Given the description of an element on the screen output the (x, y) to click on. 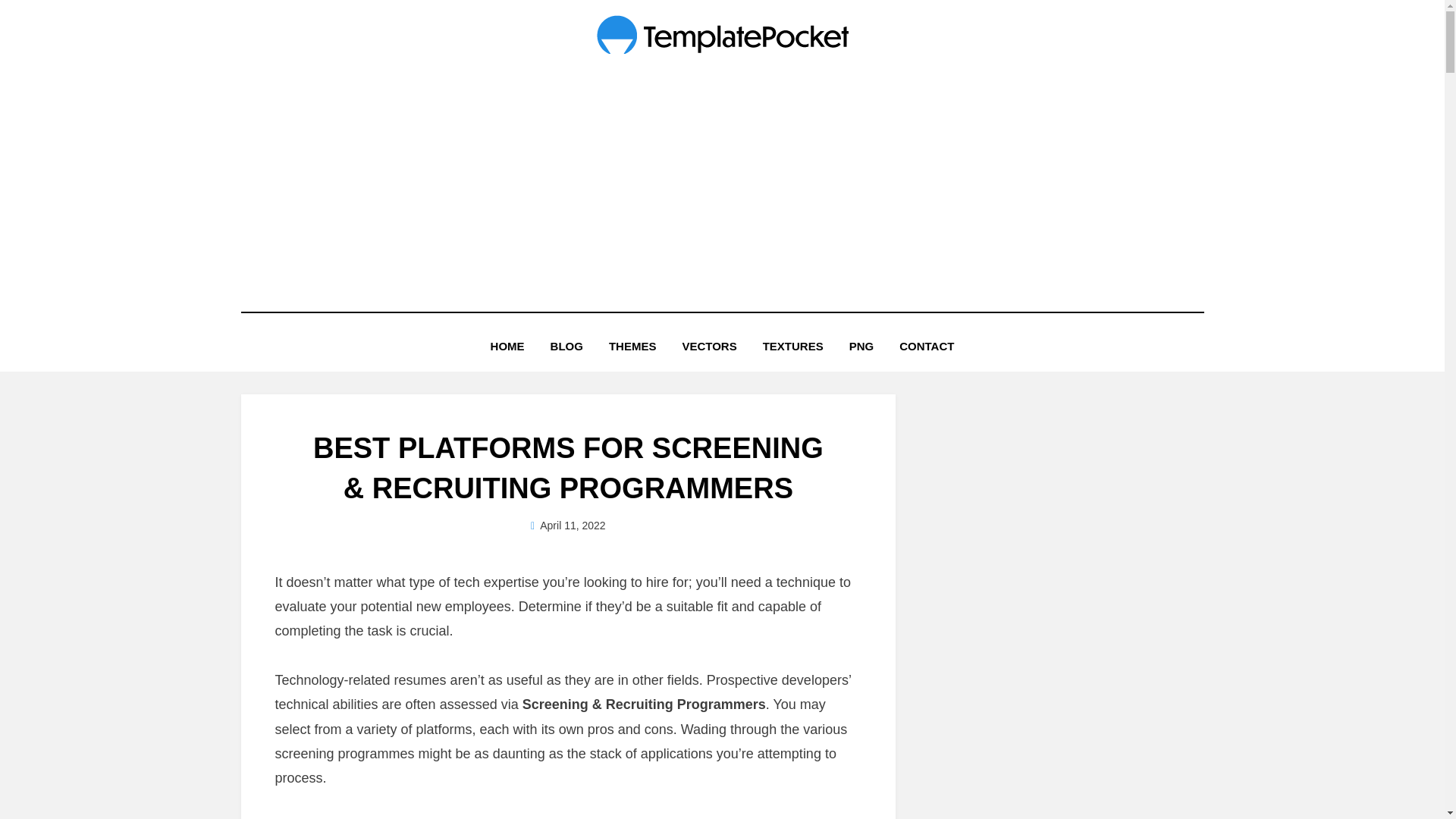
CONTACT (926, 345)
admin (568, 525)
HOME (507, 345)
THEMES (632, 345)
April 11, 2022 (568, 525)
VECTORS (708, 345)
PNG (860, 345)
TEXTURES (792, 345)
BLOG (566, 345)
